Given the description of an element on the screen output the (x, y) to click on. 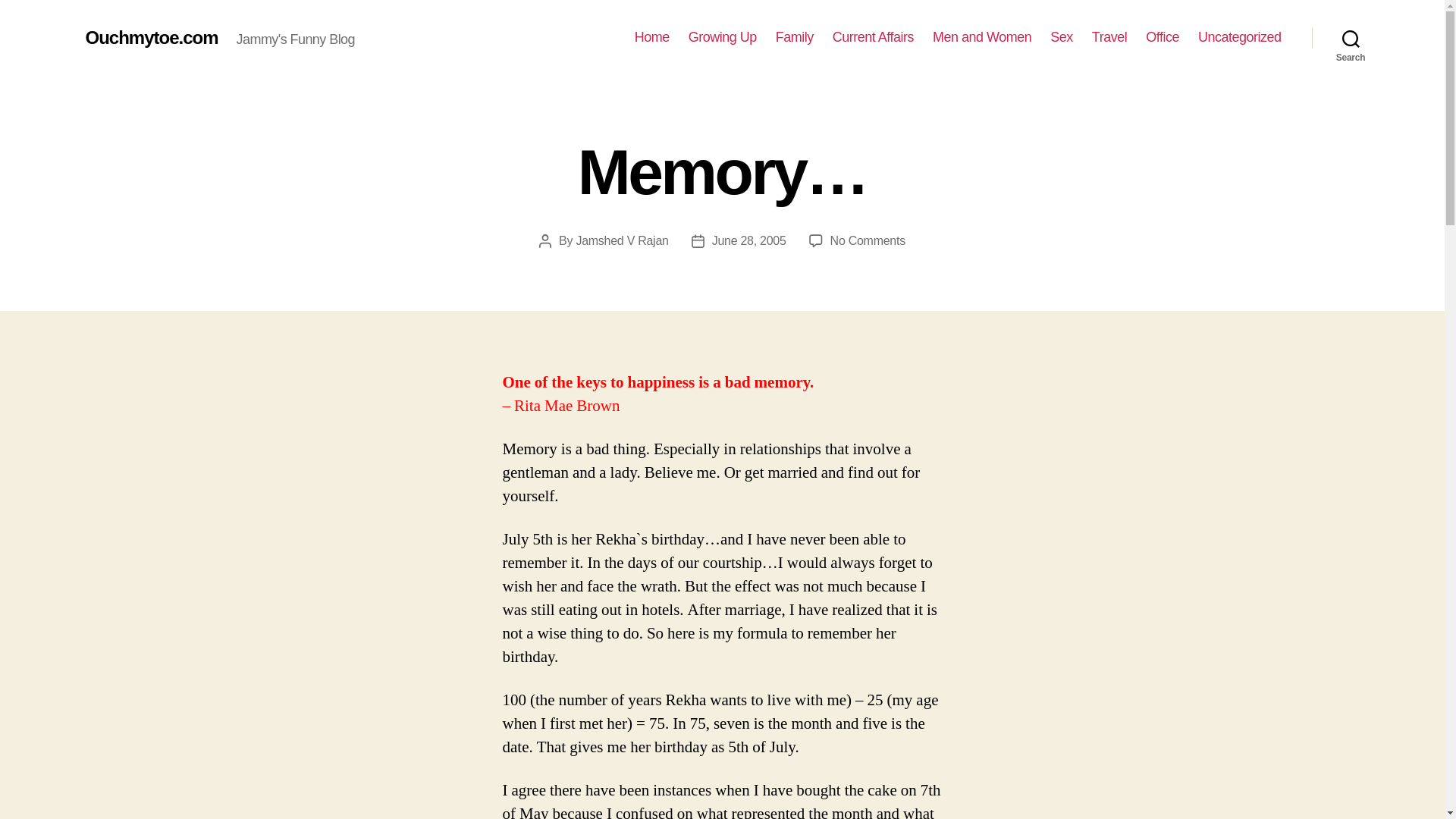
Home (651, 37)
Ouchmytoe.com (150, 37)
Men and Women (981, 37)
June 28, 2005 (748, 240)
Current Affairs (873, 37)
Family (794, 37)
Jamshed V Rajan (621, 240)
Travel (1109, 37)
Sex (1061, 37)
Office (1162, 37)
